Given the description of an element on the screen output the (x, y) to click on. 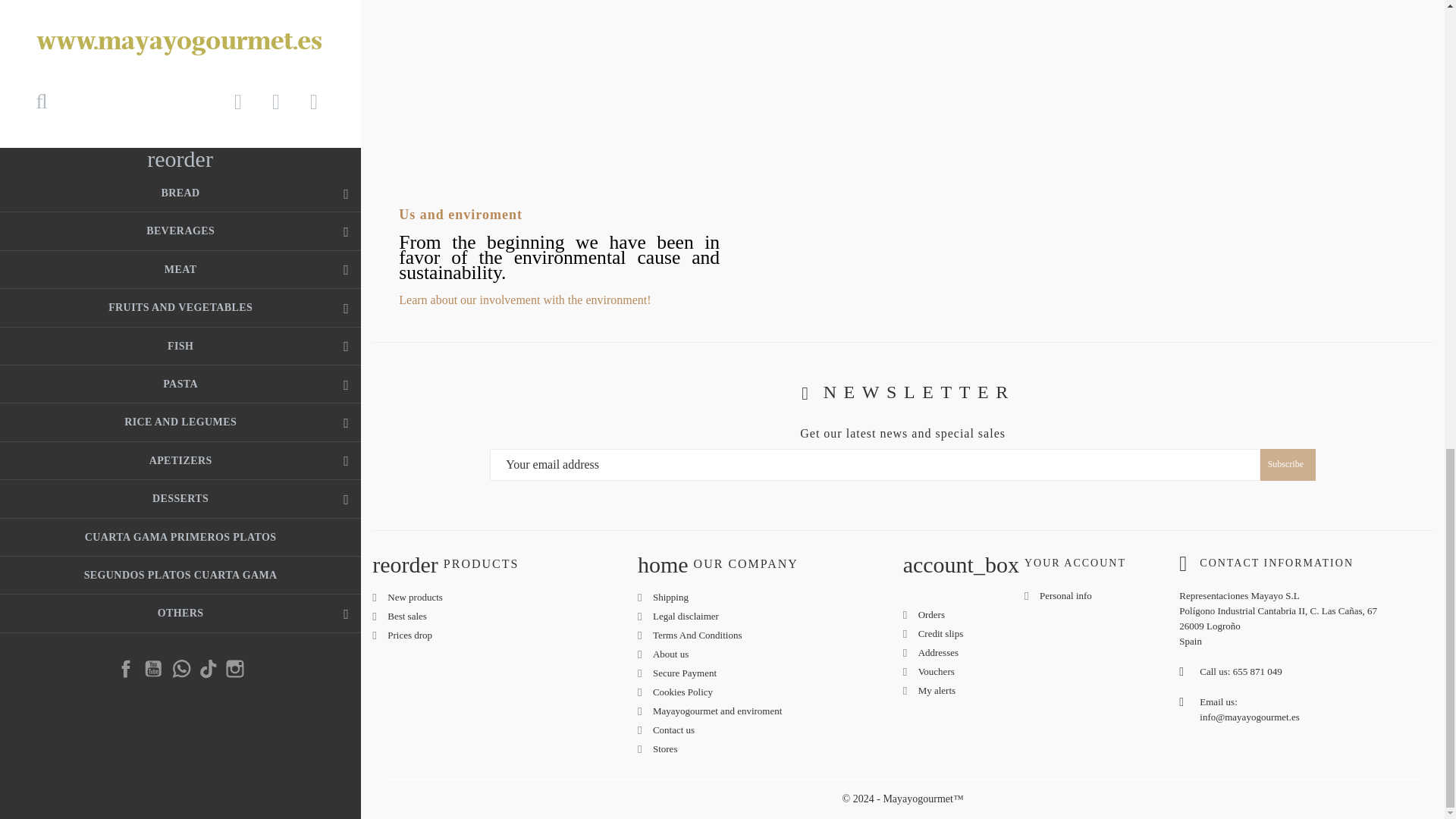
New products (414, 596)
Vouchers (936, 671)
cookies policy (682, 691)
Subscribe (1288, 464)
Orders (931, 614)
My alerts (936, 690)
Our special products (409, 634)
Best sales (406, 615)
secure payment (684, 672)
